Given the description of an element on the screen output the (x, y) to click on. 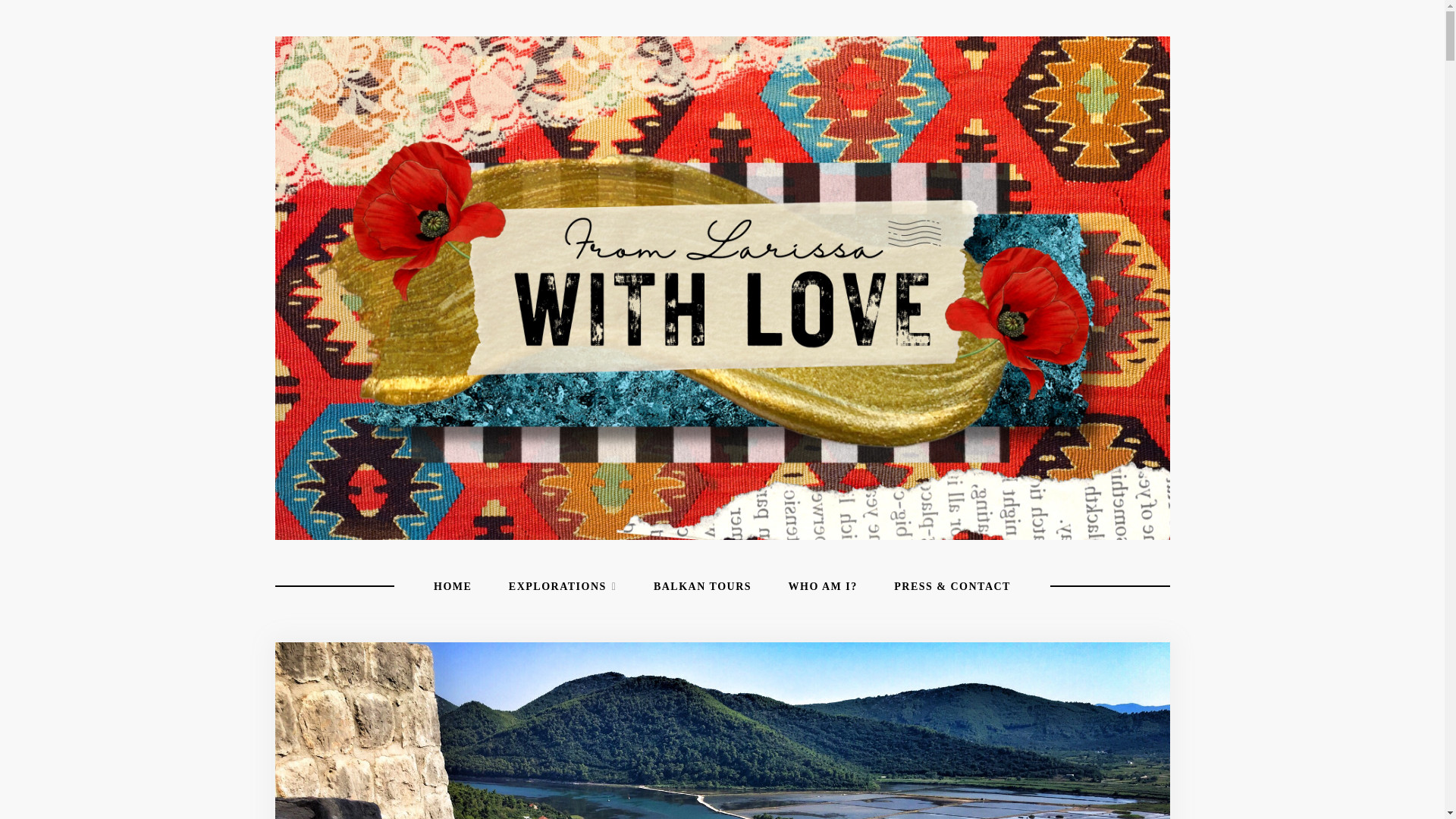
EXPLORATIONS (562, 586)
HOME (452, 586)
